Given the description of an element on the screen output the (x, y) to click on. 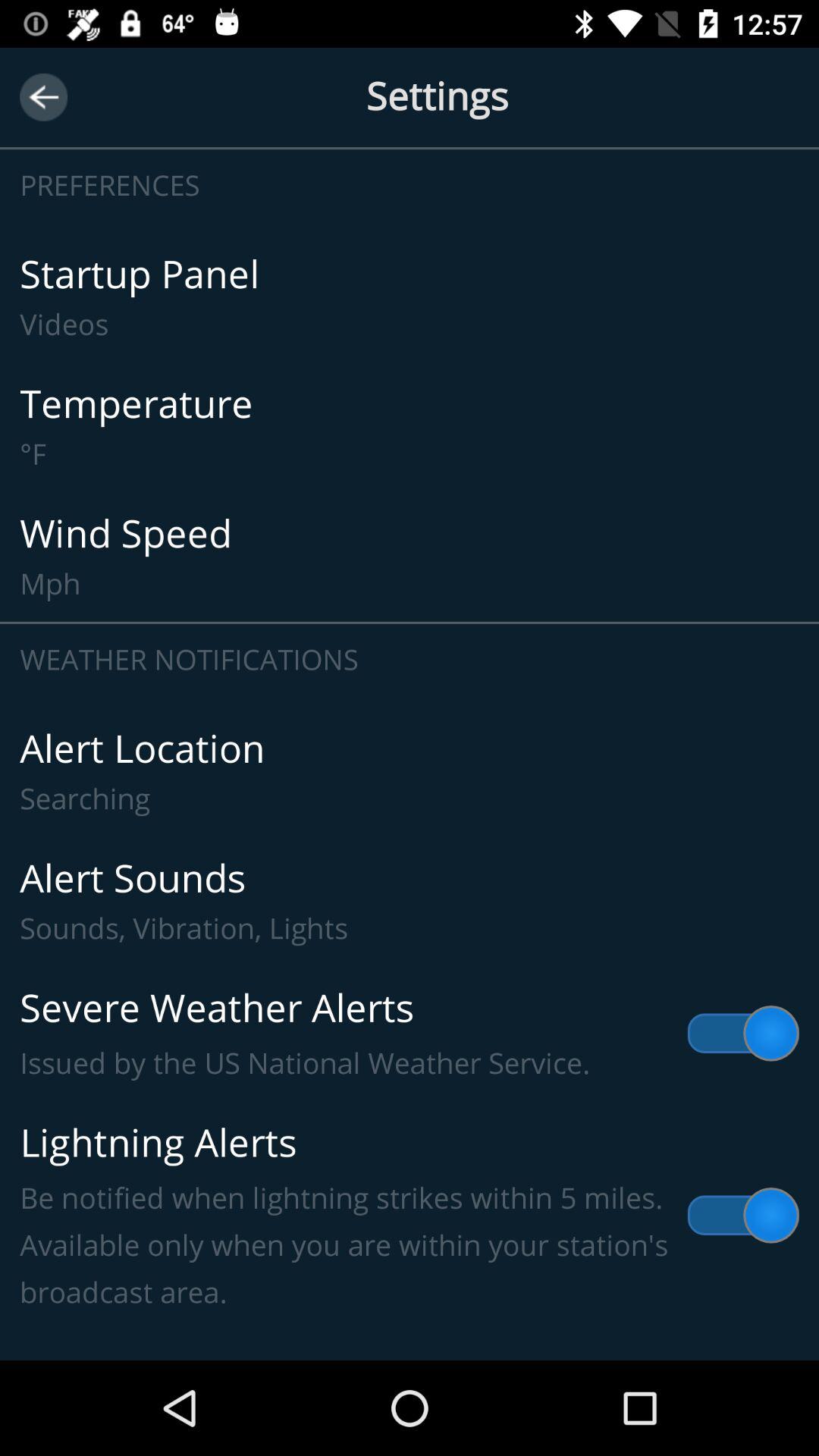
go back (43, 97)
